Given the description of an element on the screen output the (x, y) to click on. 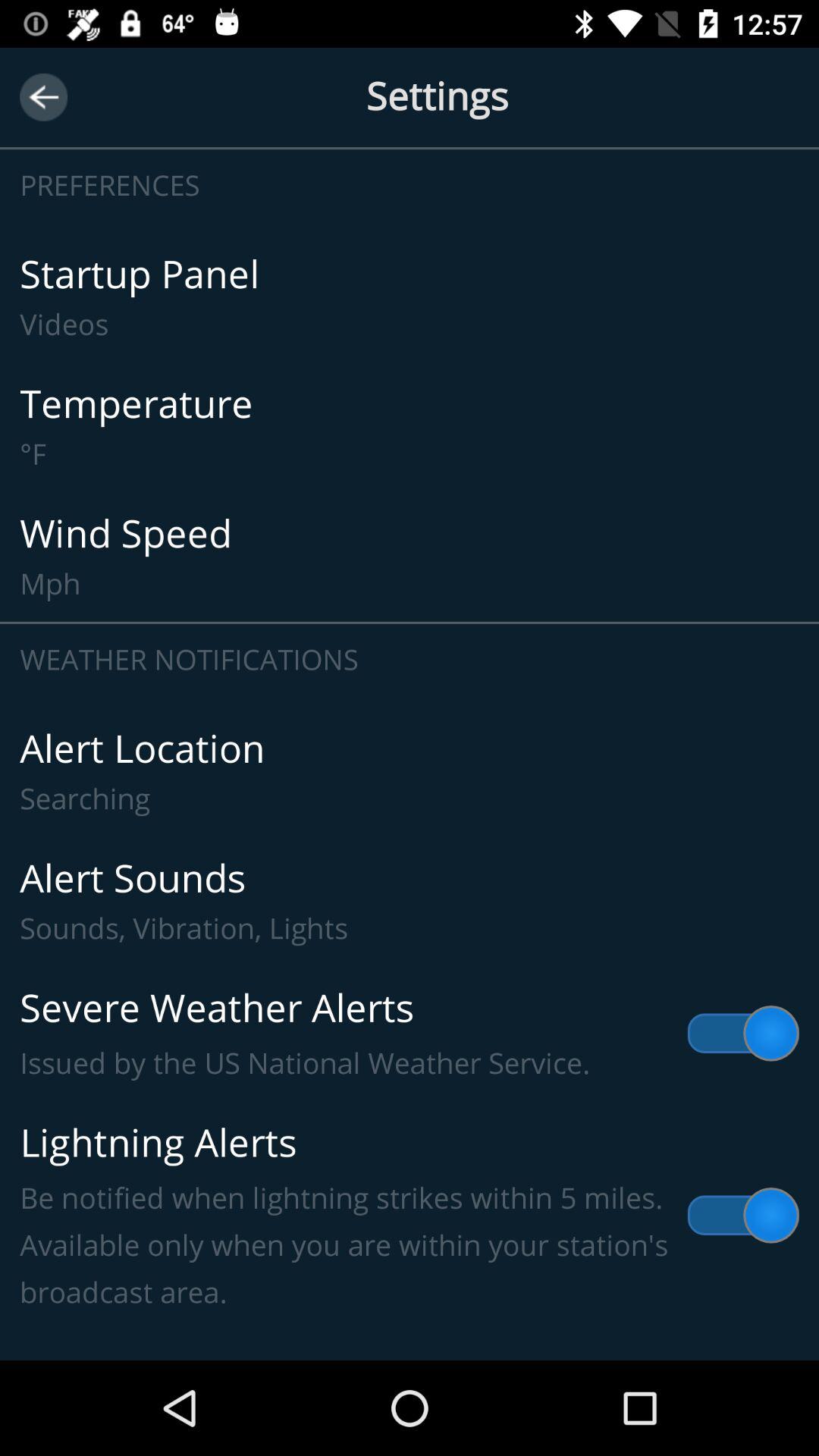
go back (43, 97)
